Given the description of an element on the screen output the (x, y) to click on. 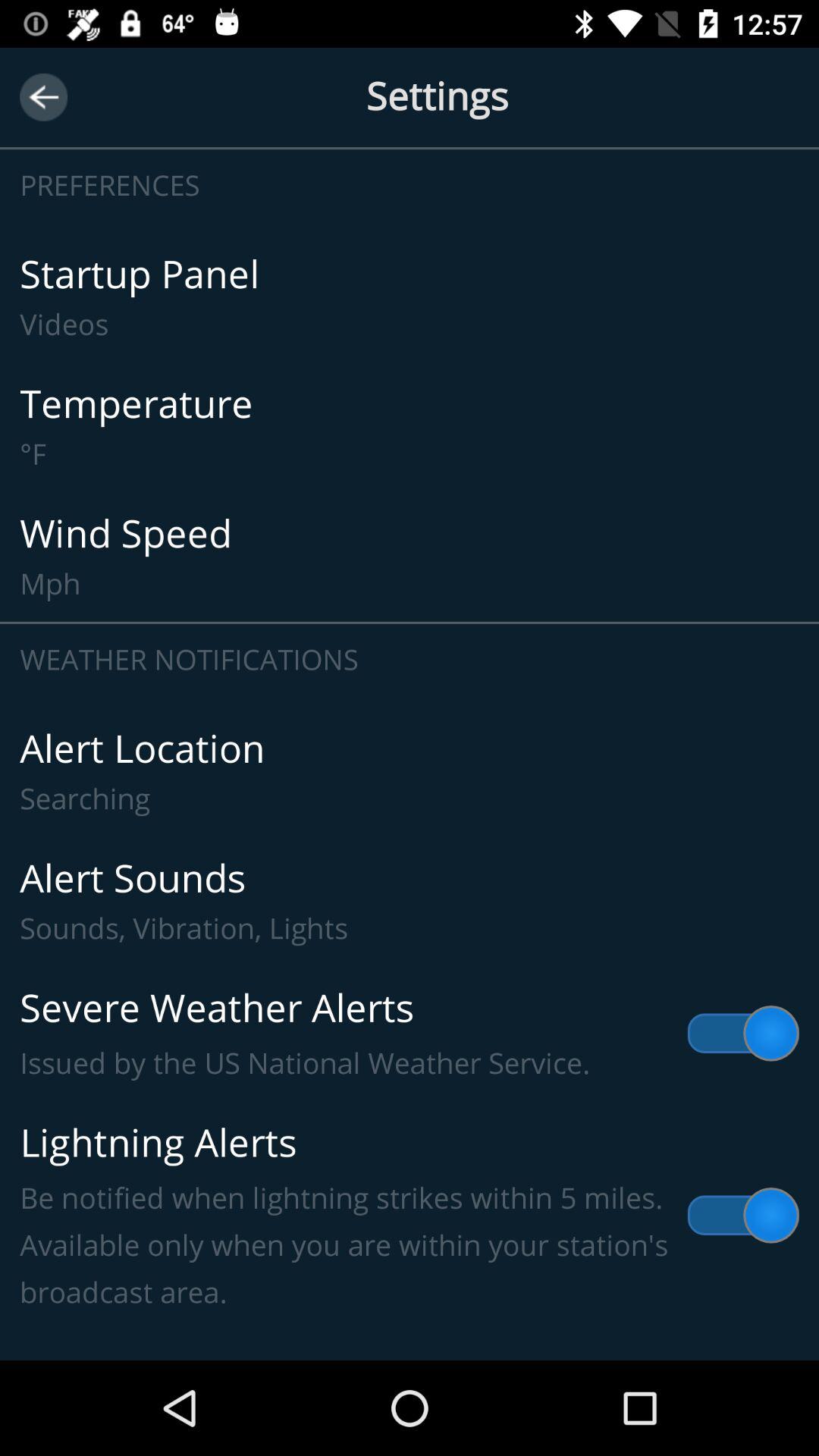
go back (43, 97)
